Given the description of an element on the screen output the (x, y) to click on. 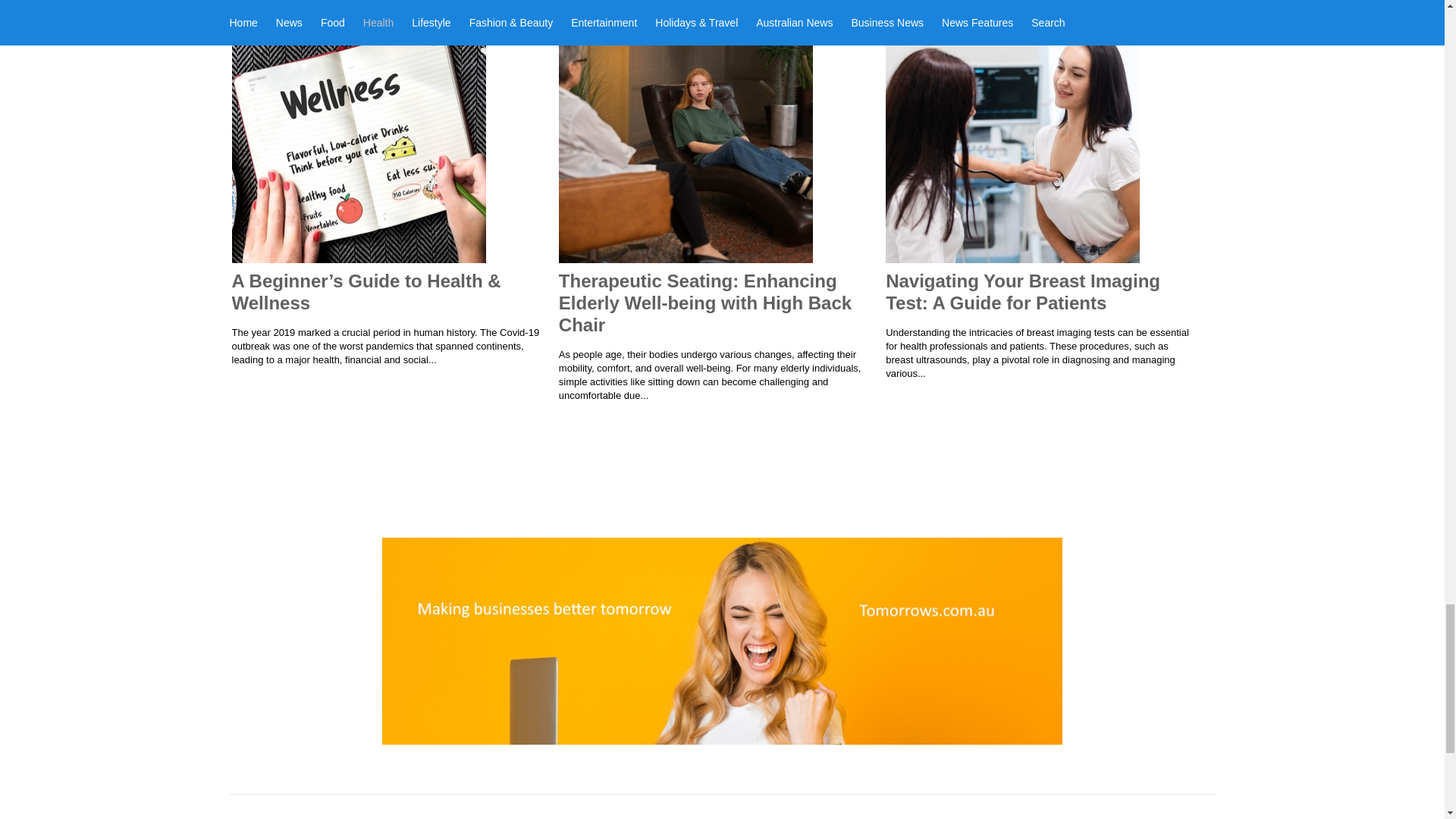
Navigating Your Breast Imaging Test: A Guide for Patients (1022, 291)
